Given the description of an element on the screen output the (x, y) to click on. 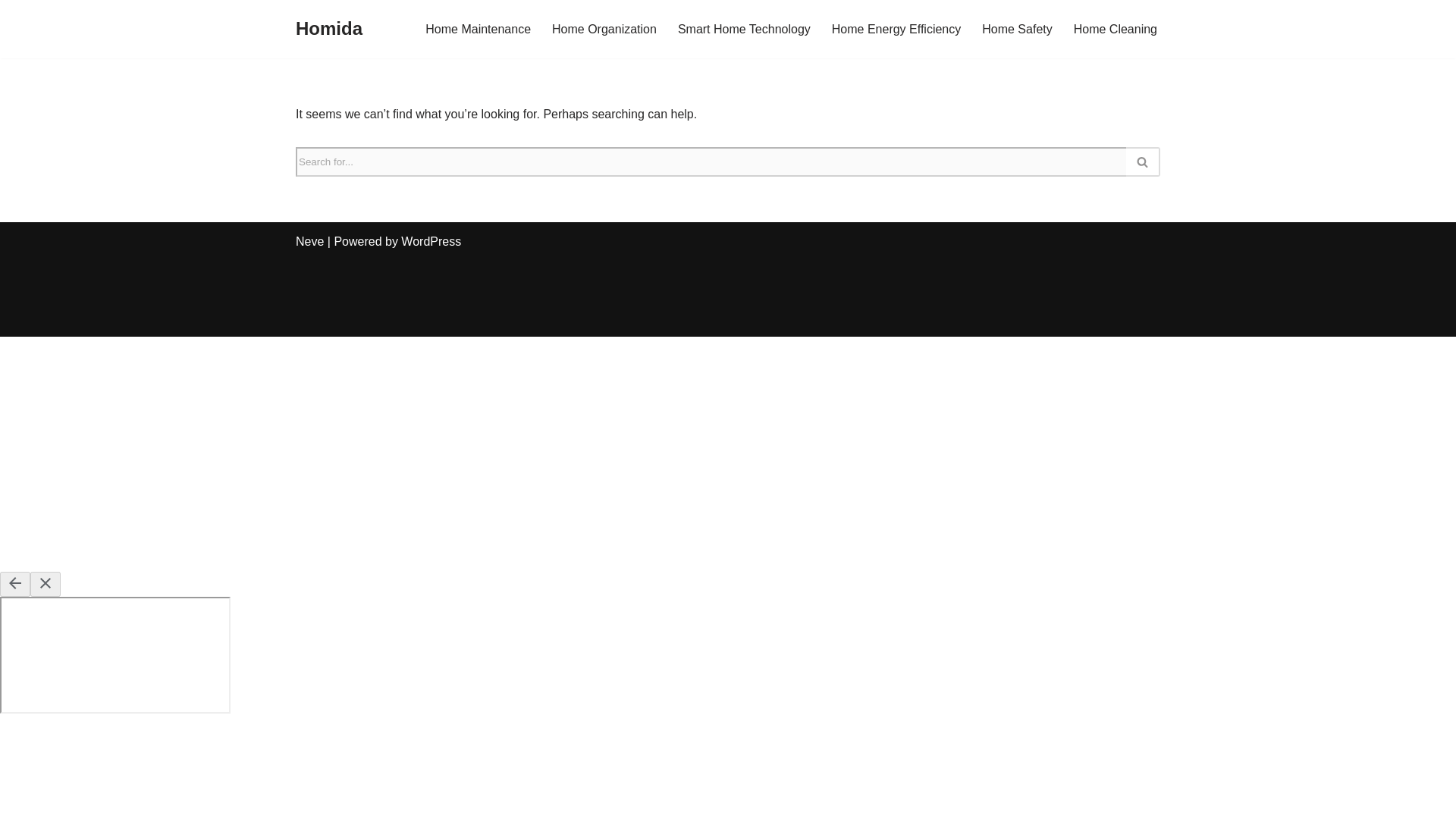
Skip to content (11, 31)
Home Cleaning (1115, 28)
Home Safety (1016, 28)
Home Maintenance (478, 28)
Homida (328, 29)
Home Energy Efficiency (895, 28)
Neve (309, 241)
Advertisement (727, 302)
WordPress (431, 241)
Smart Home Technology (744, 28)
Home Organization (603, 28)
